Given the description of an element on the screen output the (x, y) to click on. 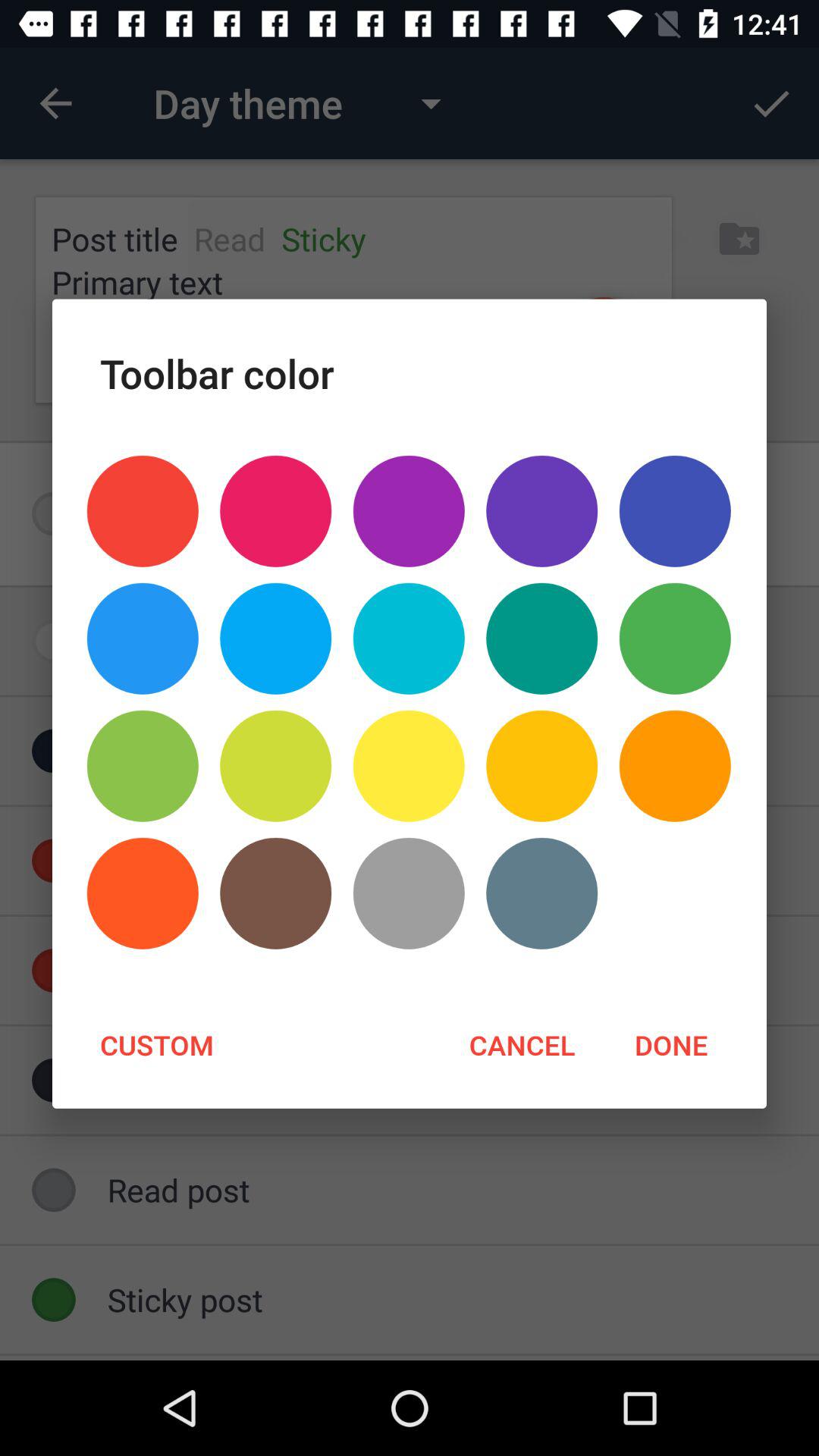
launch icon above cancel item (408, 893)
